Given the description of an element on the screen output the (x, y) to click on. 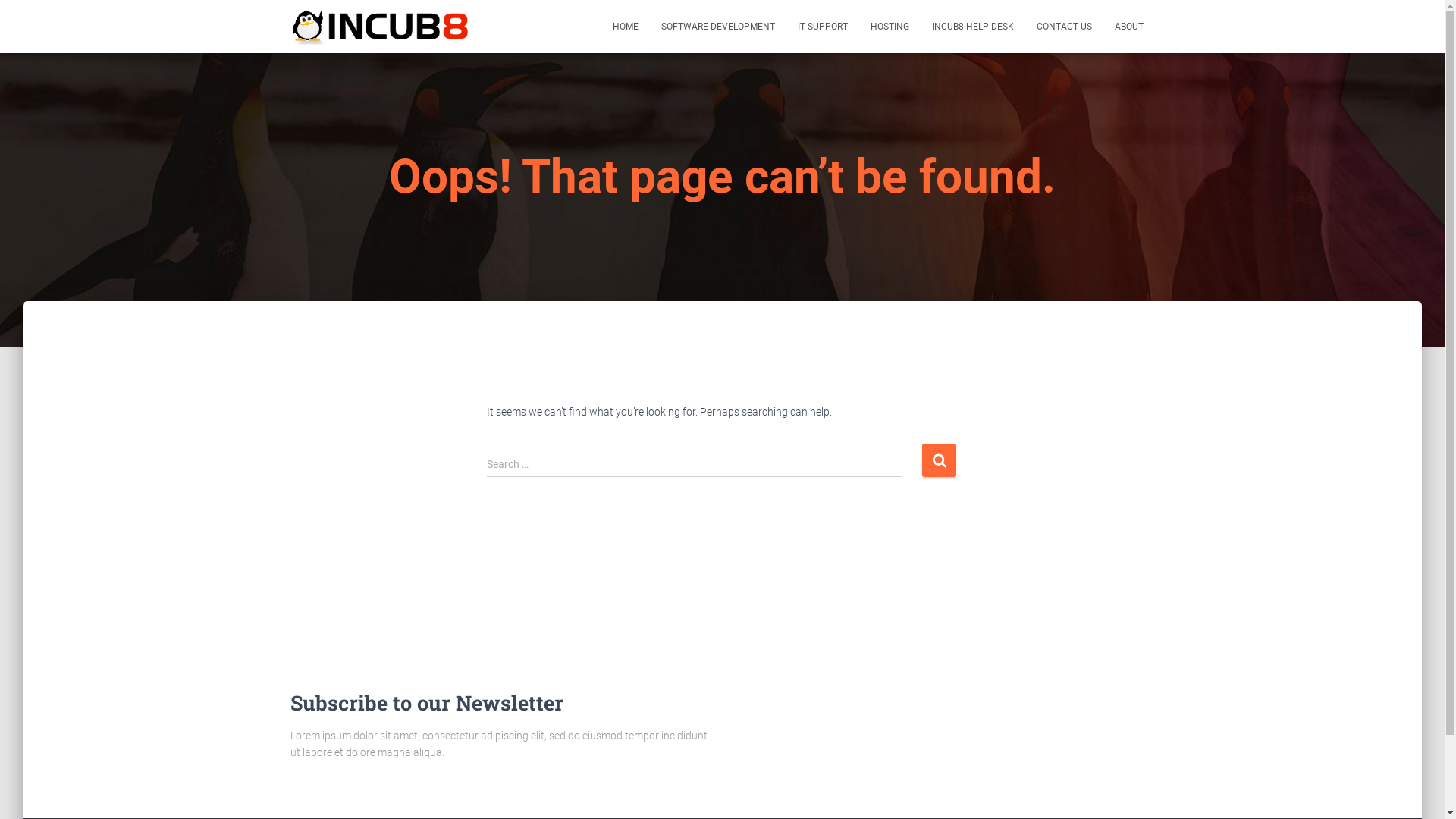
CONTACT US Element type: text (1064, 26)
HOME Element type: text (624, 26)
Search Element type: text (939, 459)
HOSTING Element type: text (888, 26)
ABOUT Element type: text (1128, 26)
INCUB8 HELP DESK Element type: text (972, 26)
SOFTWARE DEVELOPMENT Element type: text (717, 26)
INCUB8 Element type: hover (382, 26)
IT SUPPORT Element type: text (821, 26)
